Given the description of an element on the screen output the (x, y) to click on. 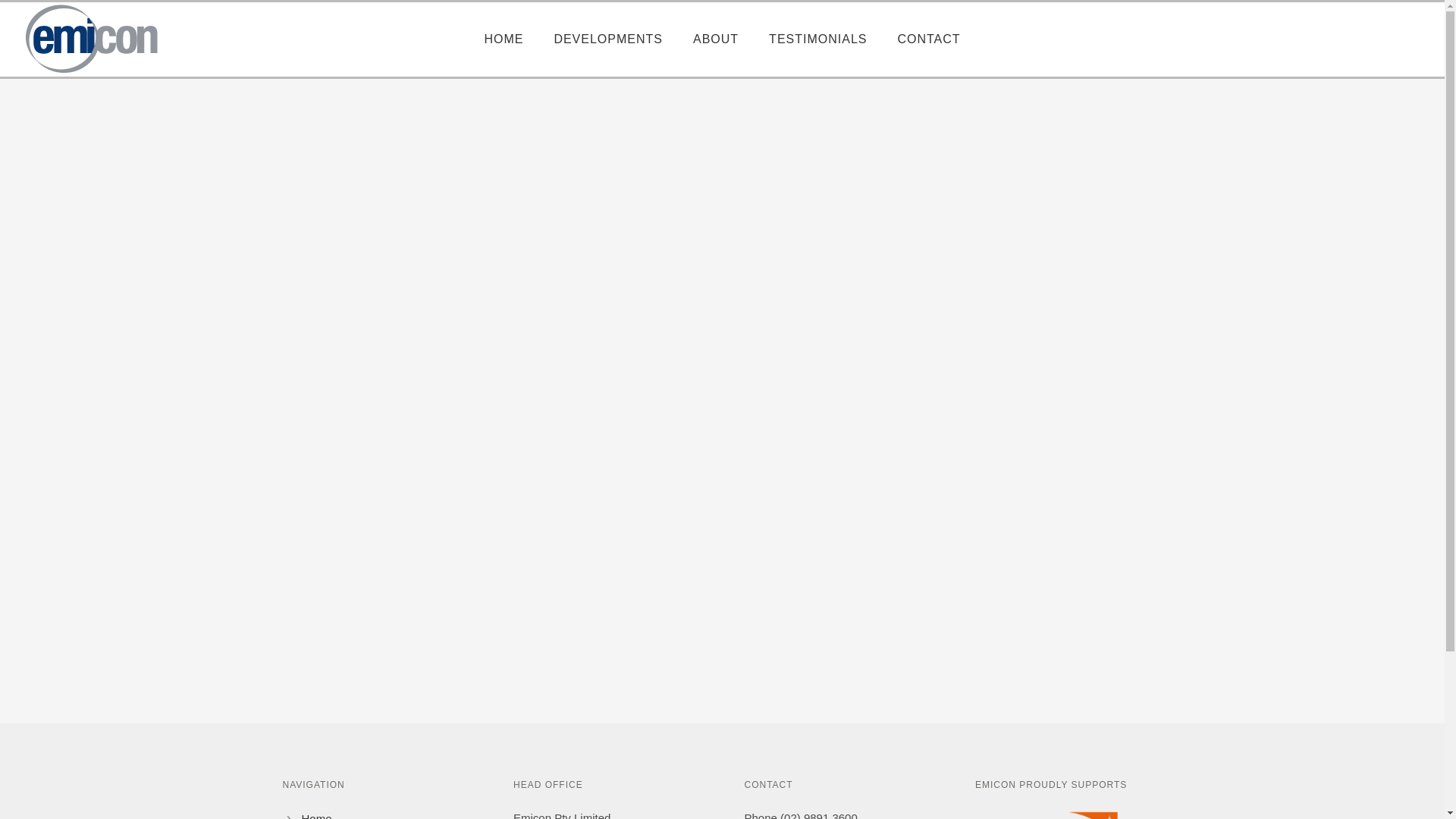
ABOUT Element type: text (715, 39)
HOME Element type: text (503, 39)
TESTIMONIALS Element type: text (817, 39)
CONTACT Element type: text (928, 39)
DEVELOPMENTS Element type: text (607, 39)
